Given the description of an element on the screen output the (x, y) to click on. 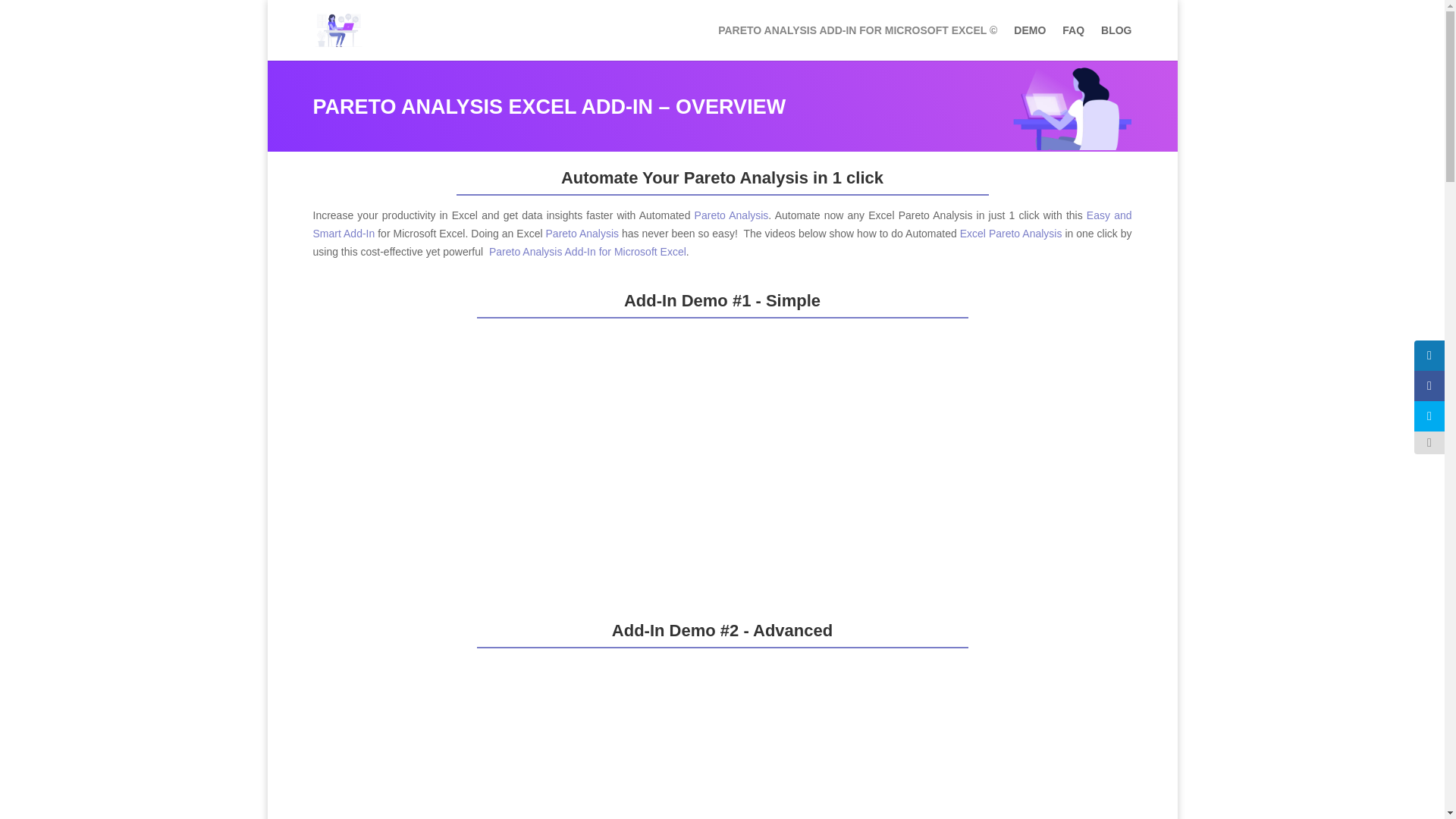
Excel Pareto Analysis (1010, 233)
FAQ (1073, 42)
DEMO (1029, 42)
Pareto Analysis (731, 215)
BLOG (1115, 42)
Smart Add-In (722, 224)
FAQ (1073, 42)
DEMO (1029, 42)
Easy and Smart Add-In (722, 224)
Pareto Analysis Excel Add-In - Overview (1070, 146)
Pareto Analysis (731, 215)
Pareto Analysis Add-In for Microsoft Excel (587, 251)
Excel Pareto Analysis (1010, 233)
Pareto Analysis (583, 233)
Pareto Analysis (583, 233)
